Given the description of an element on the screen output the (x, y) to click on. 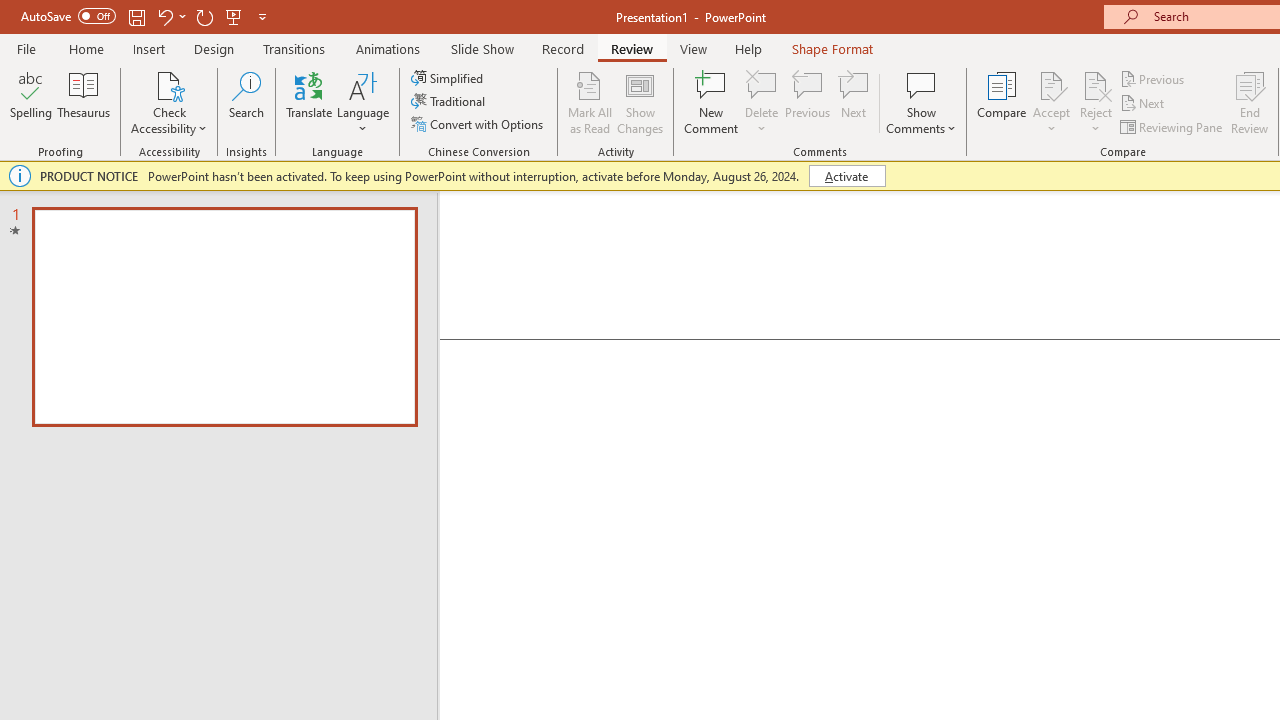
Language (363, 102)
Mark All as Read (589, 102)
Simplified (449, 78)
Reviewing Pane (1172, 126)
Accept Change (1051, 84)
New Comment (711, 102)
Thesaurus... (83, 102)
